Given the description of an element on the screen output the (x, y) to click on. 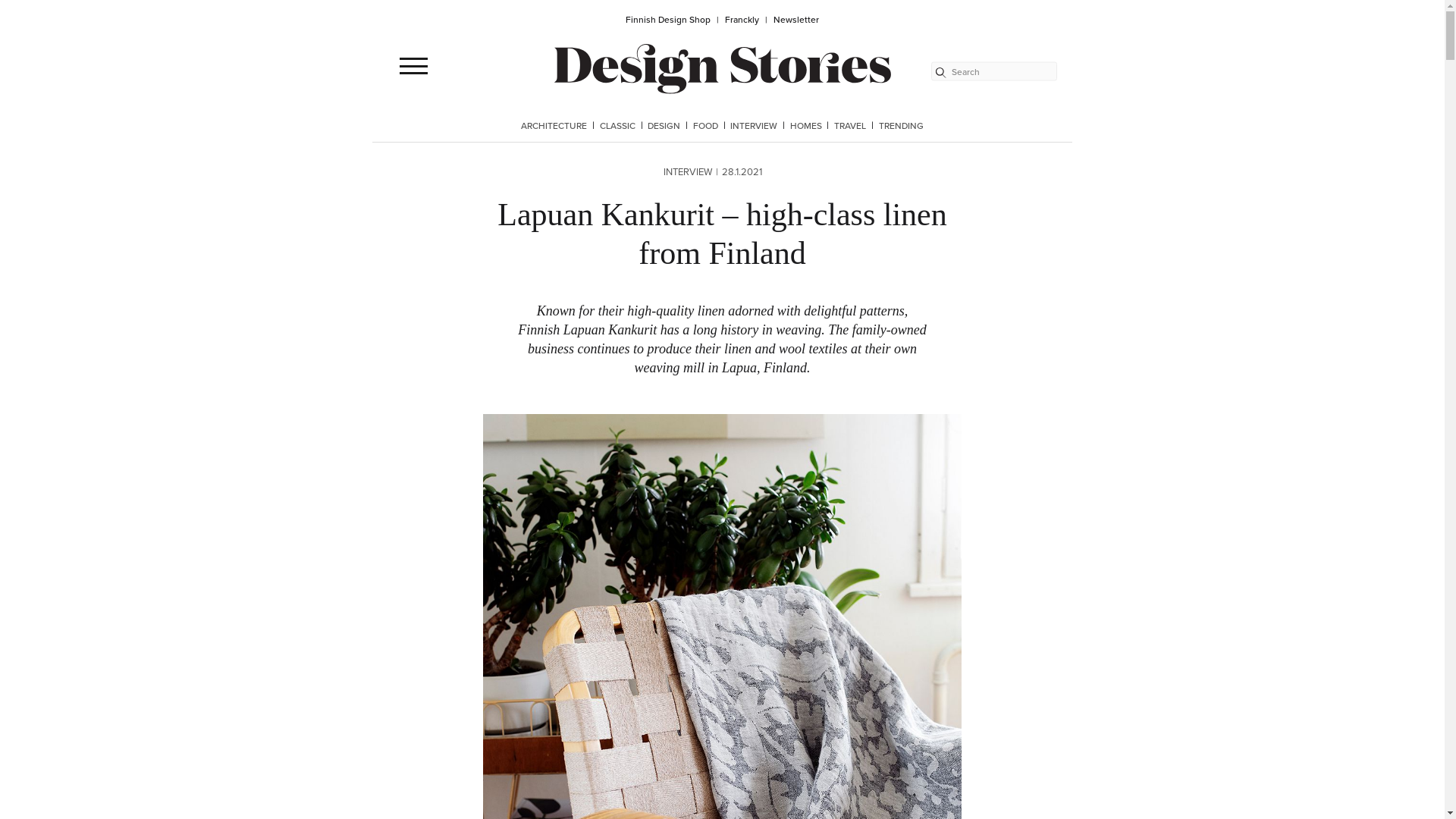
TRAVEL (850, 125)
INTERVIEW (753, 125)
INTERVIEW (686, 171)
ARCHITECTURE (553, 125)
Newsletter (795, 19)
CLASSIC (616, 125)
VALIKKO (413, 65)
HOMES (806, 125)
Finnish Design Shop COM (722, 67)
Finnish Design Shop (674, 19)
